Given the description of an element on the screen output the (x, y) to click on. 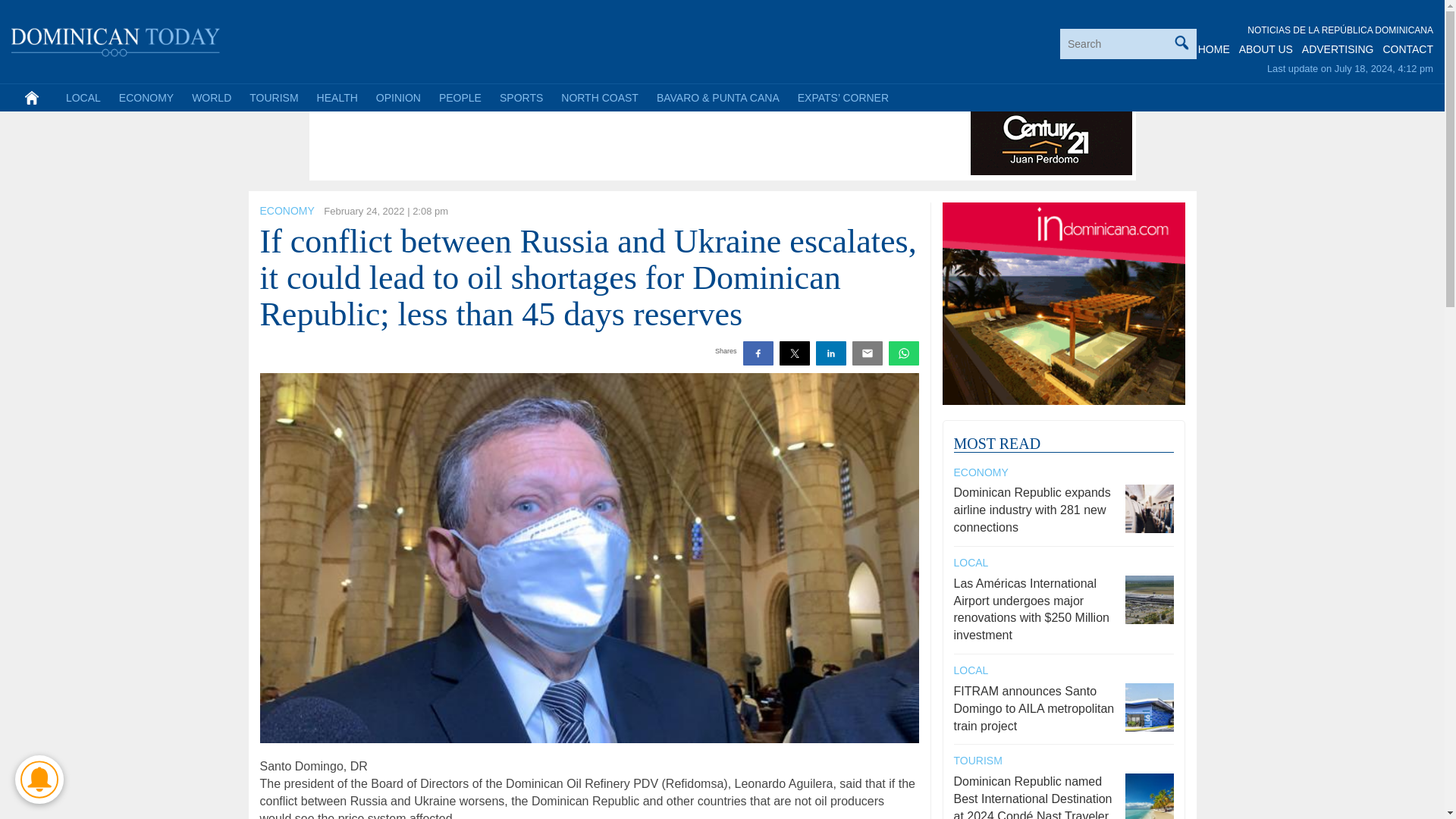
ECONOMY (286, 210)
OPINION (397, 97)
ABOUT US (1265, 49)
TOURISM (273, 97)
ADVERTISING (1337, 49)
Dominican Today News - Santo Domingo and Dominican Republic (116, 38)
CONTACT (1406, 49)
HOME (1214, 49)
NORTH COAST (599, 97)
PEOPLE (459, 97)
Advertisement (589, 141)
WORLD (211, 97)
SPORTS (520, 97)
ECONOMY (146, 97)
